Given the description of an element on the screen output the (x, y) to click on. 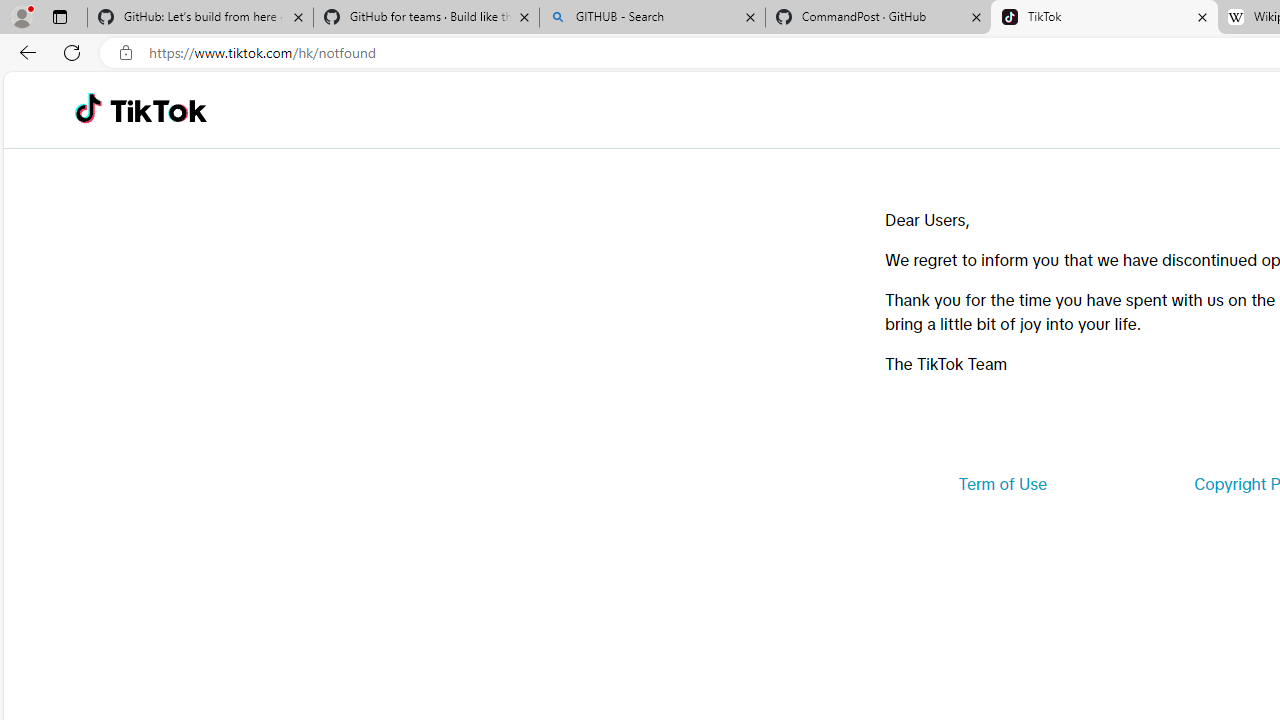
TikTok (1104, 17)
GITHUB - Search (652, 17)
TikTok (158, 110)
Term of Use (1002, 484)
